Given the description of an element on the screen output the (x, y) to click on. 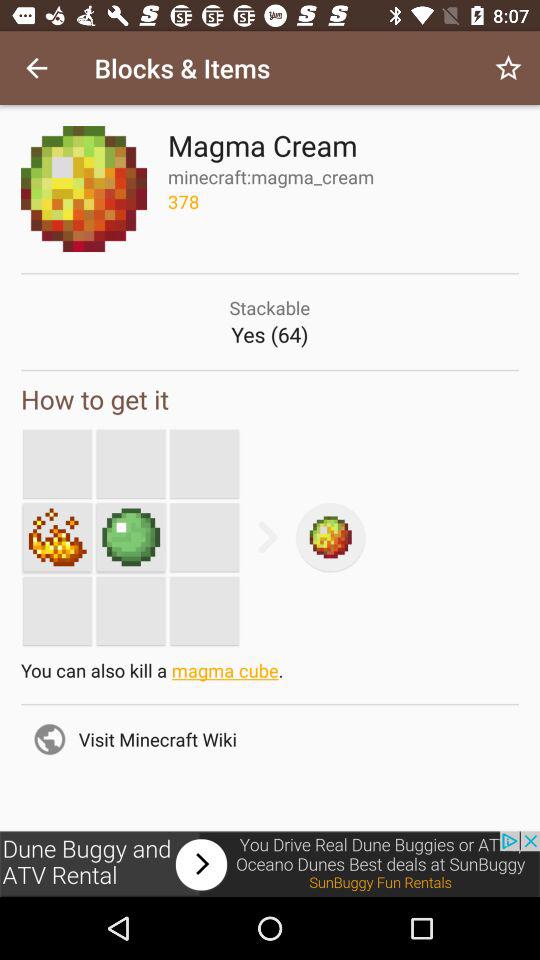
tap you can also (270, 675)
